Given the description of an element on the screen output the (x, y) to click on. 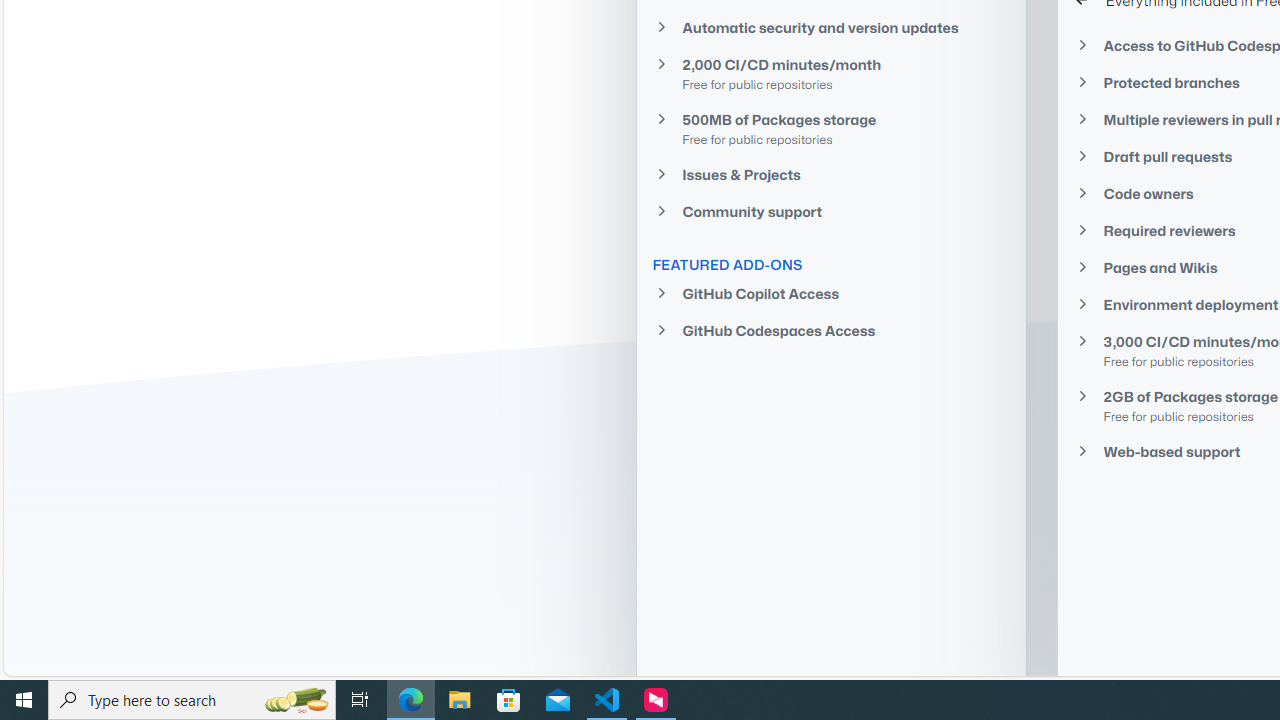
500MB of Packages storageFree for public repositories (830, 128)
Issues & Projects (830, 173)
Community support (830, 211)
2,000 CI/CD minutes/month Free for public repositories (830, 74)
GitHub Copilot Access (830, 294)
GitHub Copilot Access (830, 293)
Automatic security and version updates (830, 27)
GitHub Codespaces Access (830, 330)
Community support (830, 211)
500MB of Packages storage Free for public repositories (830, 128)
Issues & Projects (830, 174)
Automatic security and version updates (830, 26)
2,000 CI/CD minutes/monthFree for public repositories (830, 73)
GitHub Codespaces Access (830, 330)
